Given the description of an element on the screen output the (x, y) to click on. 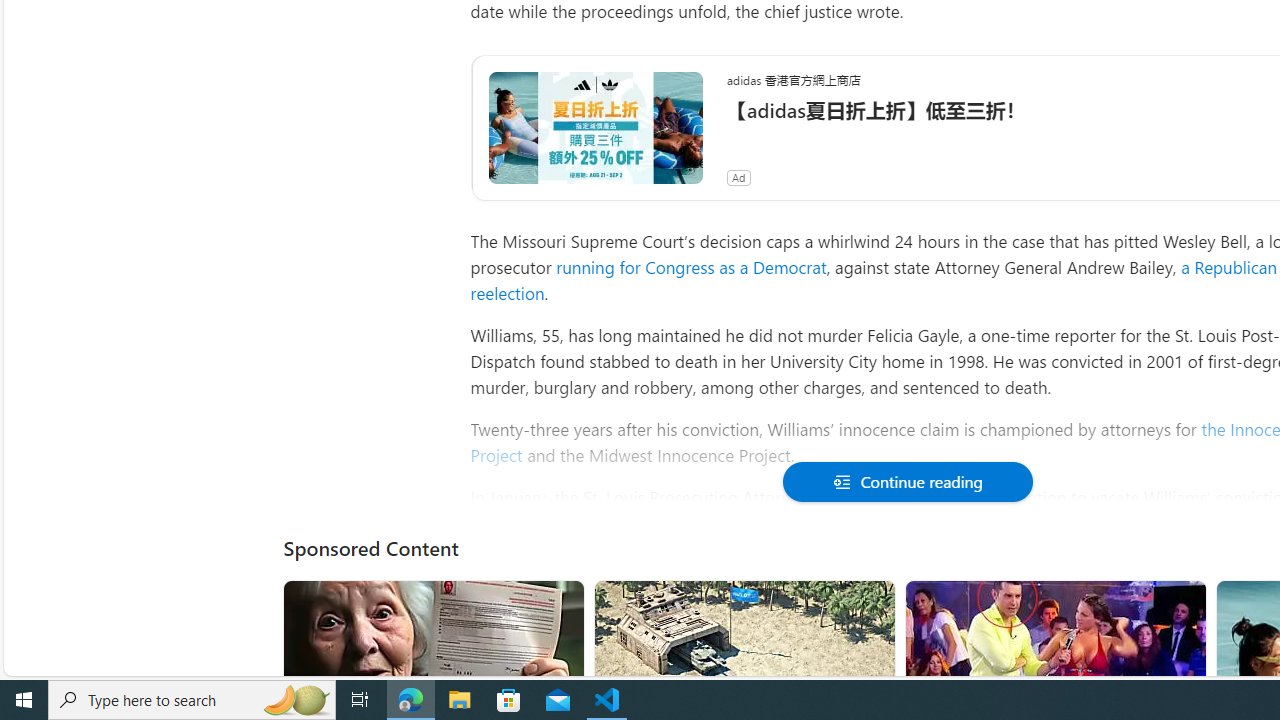
running for Congress as a Democrat (690, 266)
